Given the description of an element on the screen output the (x, y) to click on. 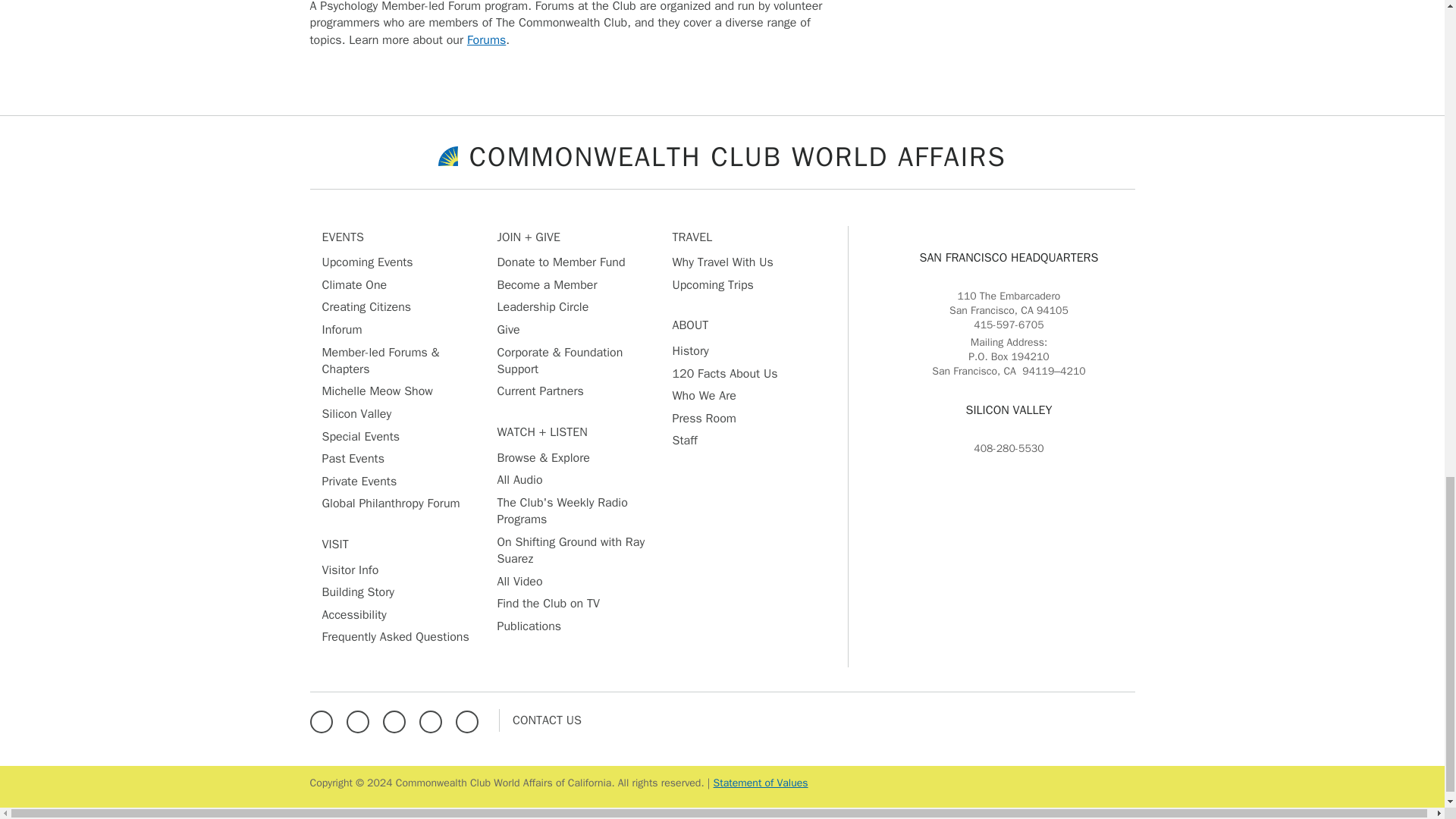
YouTube (470, 719)
Member and Guest Policy (760, 782)
Instagram (397, 719)
Facebook (323, 719)
Linkedin (434, 719)
X (361, 719)
